Given the description of an element on the screen output the (x, y) to click on. 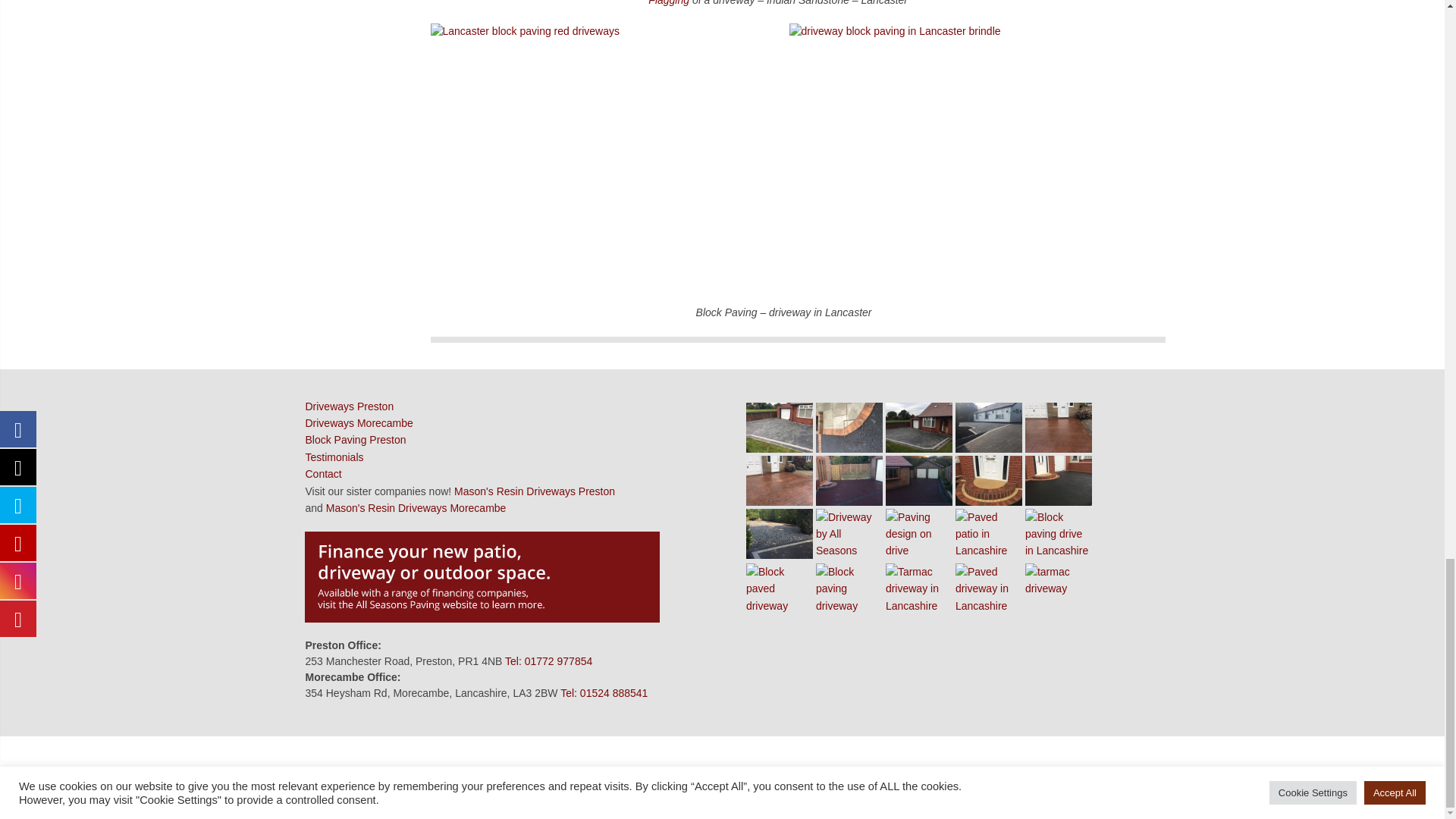
Pattern imprinted concrete driveway (779, 480)
Utility access point on drive (849, 427)
Patterned concrete (1059, 427)
pic35 (779, 427)
Ideal4Finance (481, 576)
preston-paving-lancashire (919, 427)
preston-block-paving (989, 427)
